Given the description of an element on the screen output the (x, y) to click on. 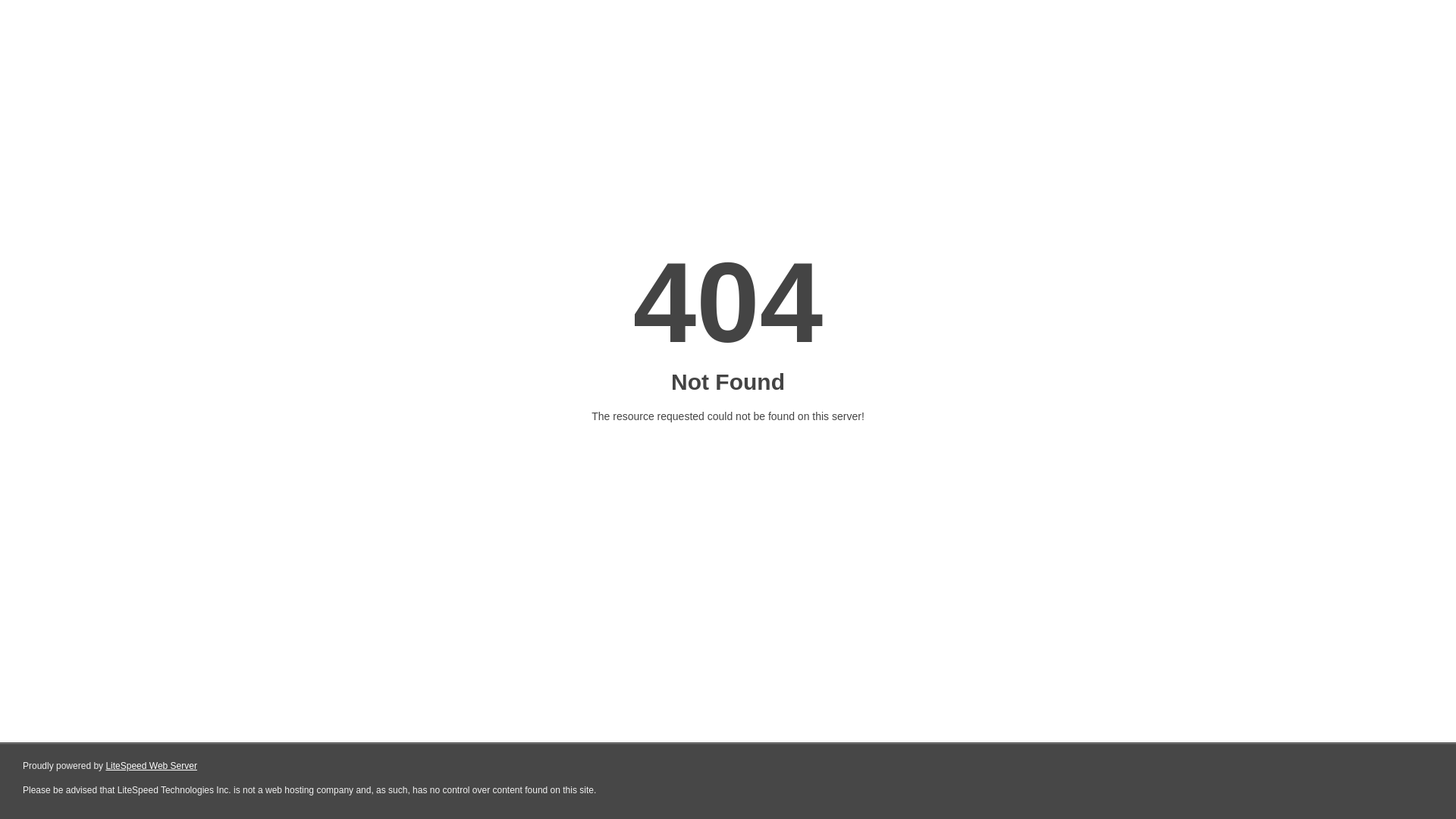
LiteSpeed Web Server Element type: text (151, 765)
